Given the description of an element on the screen output the (x, y) to click on. 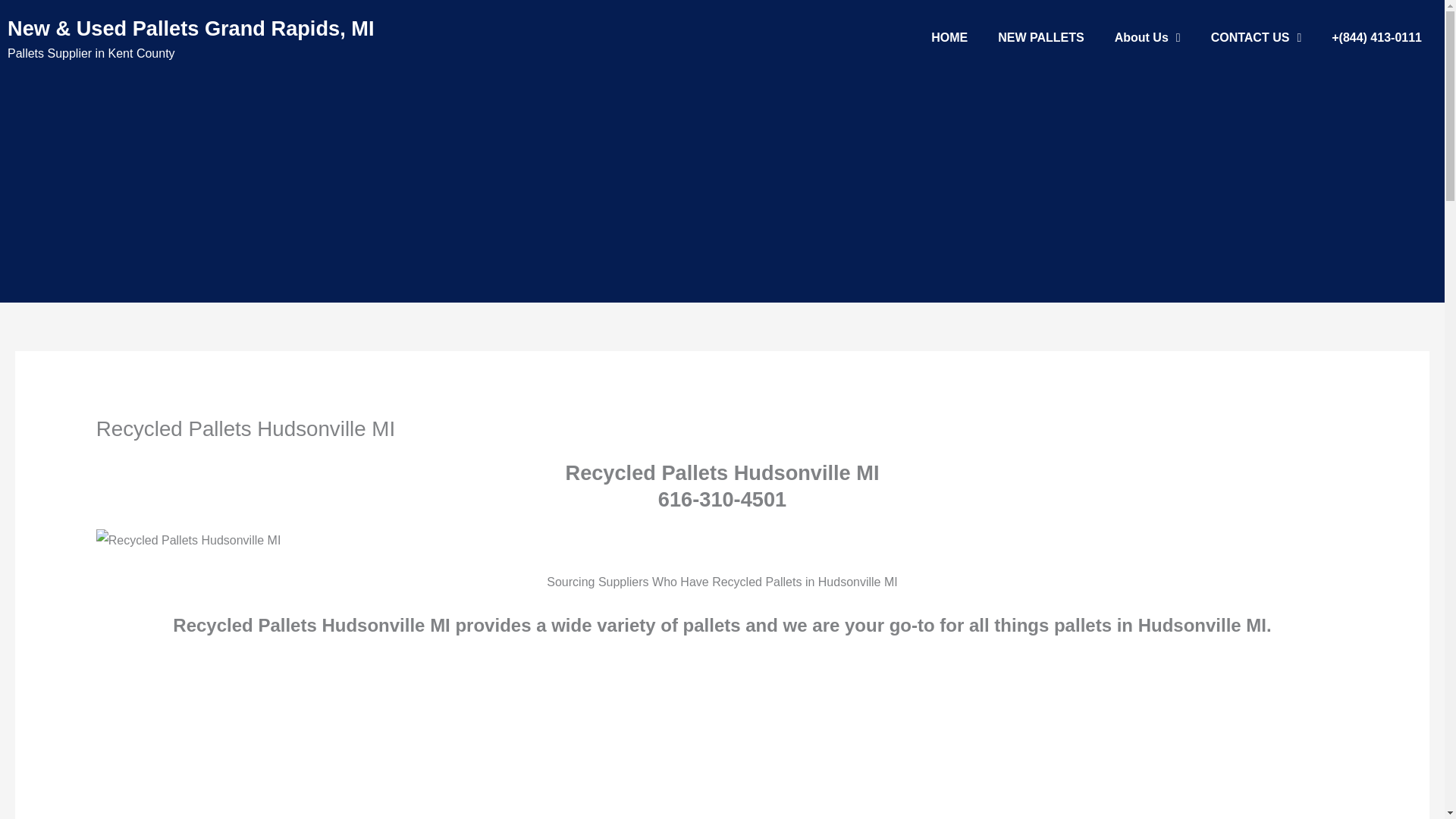
CONTACT US (1256, 37)
HOME (948, 37)
pallet (188, 540)
About Us (1147, 37)
NEW PALLETS (1040, 37)
